Given the description of an element on the screen output the (x, y) to click on. 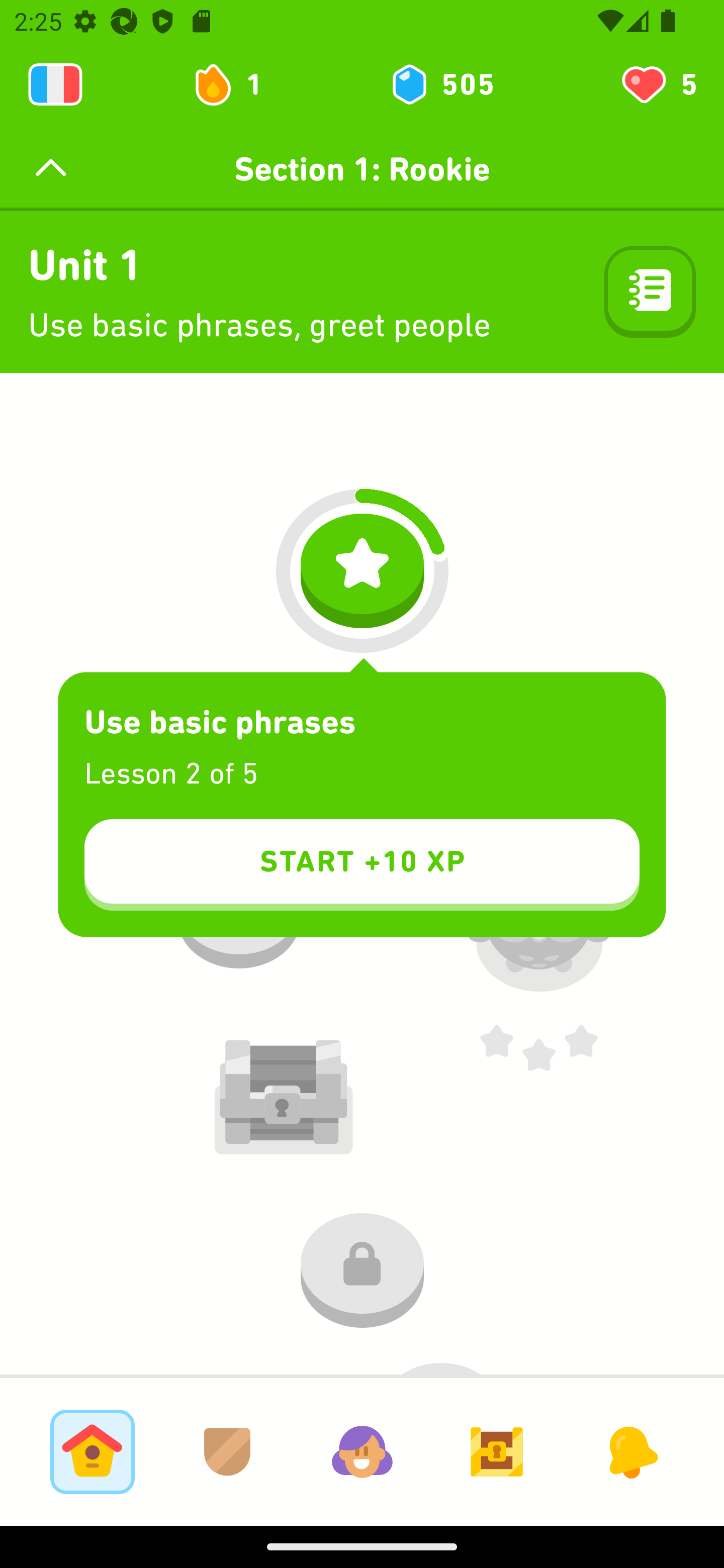
Learning 2131888976 (55, 84)
1 day streak 1 (236, 84)
505 (441, 84)
You have 5 hearts left 5 (657, 84)
Section 1: Rookie (362, 169)
Use basic phrases Lesson 2 of 5 START +10 XP (361, 805)
START +10 XP (361, 864)
Learn Tab (91, 1451)
Leagues Tab (227, 1451)
Profile Tab (361, 1451)
Goals Tab (496, 1451)
News Tab (631, 1451)
